Given the description of an element on the screen output the (x, y) to click on. 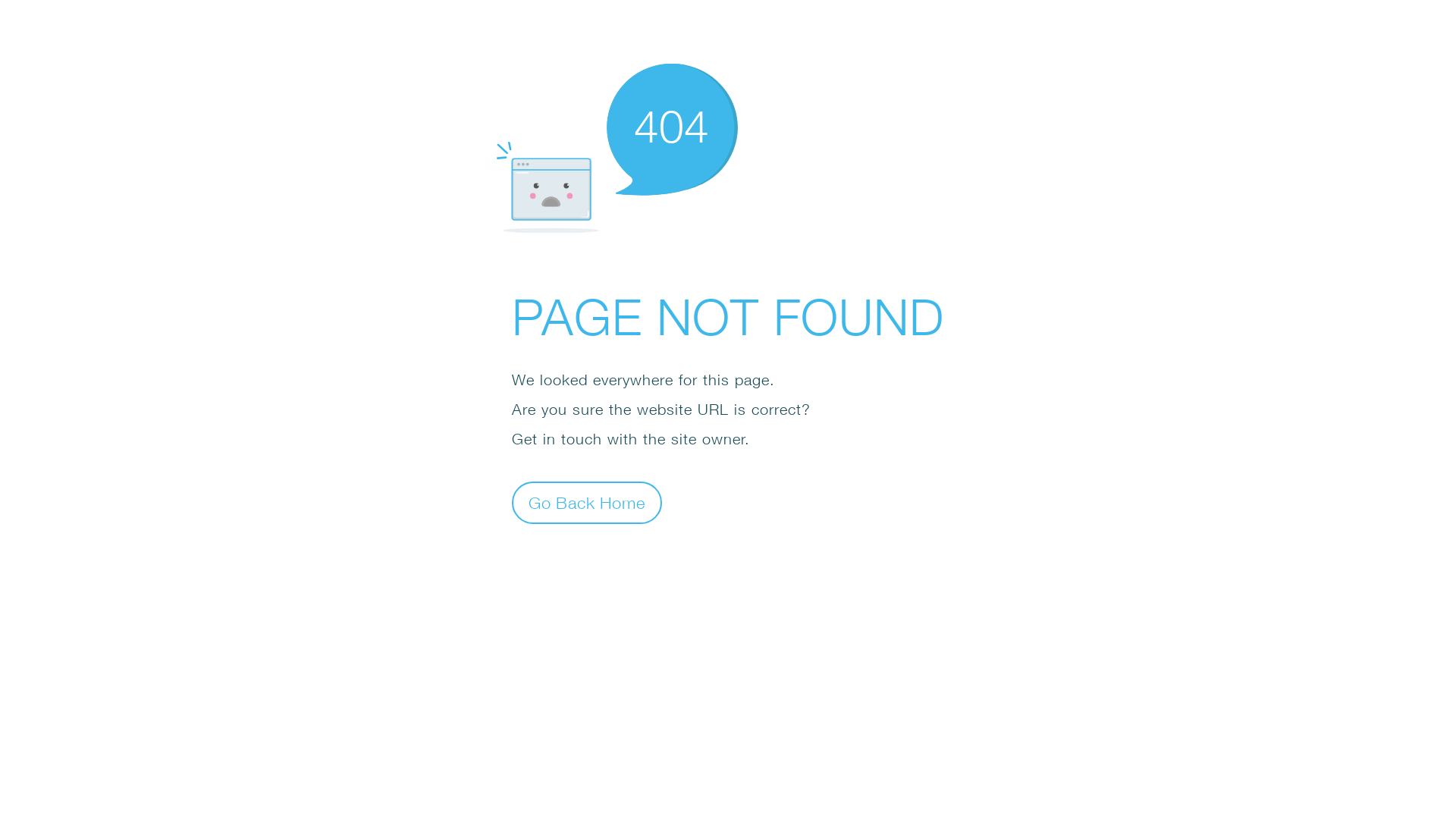
Go Back Home Element type: text (586, 502)
